Given the description of an element on the screen output the (x, y) to click on. 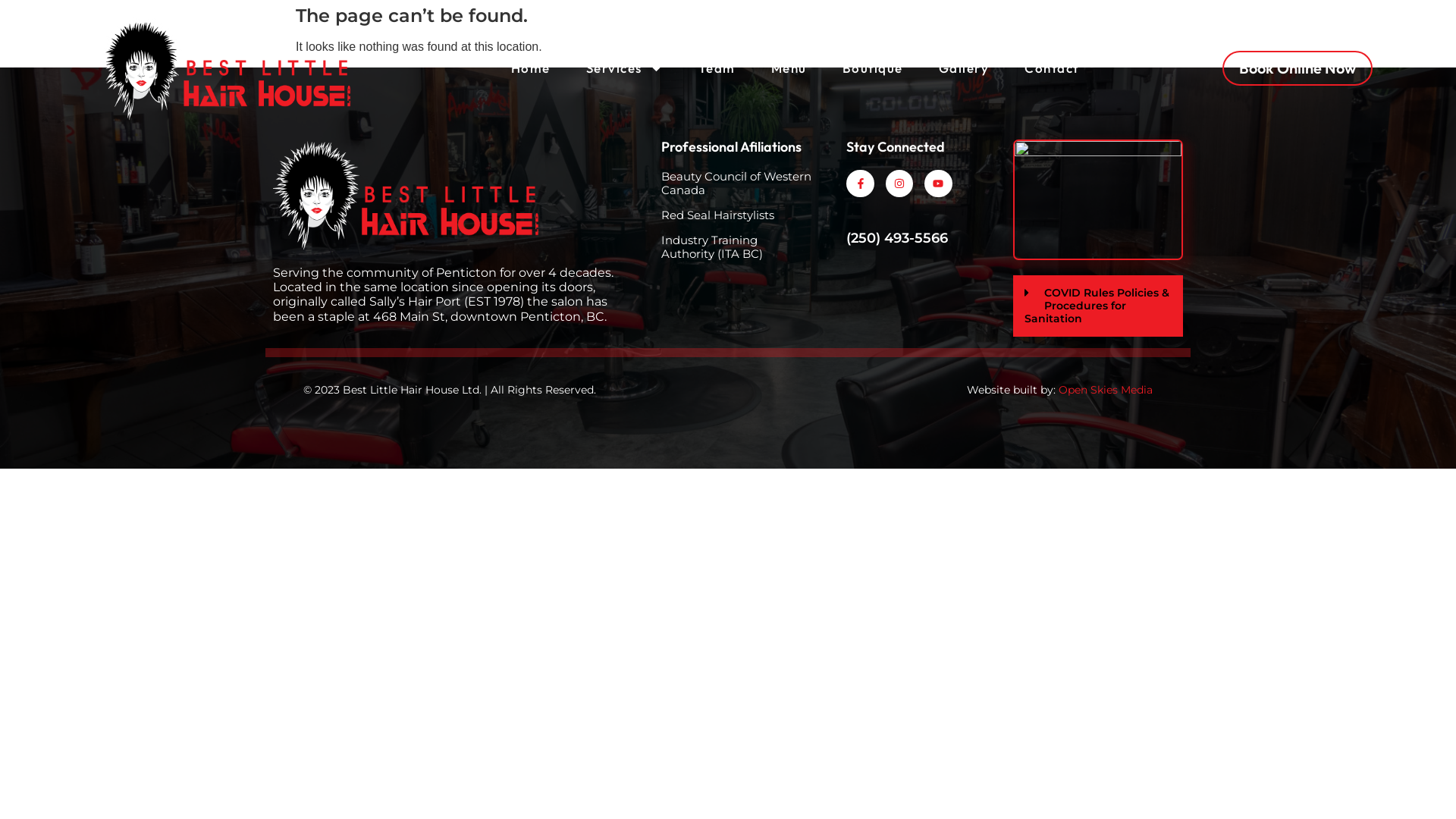
Home Element type: text (530, 68)
COVID Rules Policies & Procedures for Sanitation Element type: text (1096, 305)
Red Seal Hairstylists Element type: text (736, 215)
Contact Element type: text (1051, 68)
Book Online Now Element type: text (1297, 67)
Team Element type: text (716, 68)
(250) 493-5566 Element type: text (896, 237)
Menu Element type: text (789, 68)
Boutique Element type: text (872, 68)
Industry Training Authority (ITA BC) Element type: text (736, 246)
Open Skies Media Element type: text (1105, 389)
Services Element type: text (624, 68)
Gallery Element type: text (963, 68)
Beauty Council of Western Canada Element type: text (736, 183)
